Given the description of an element on the screen output the (x, y) to click on. 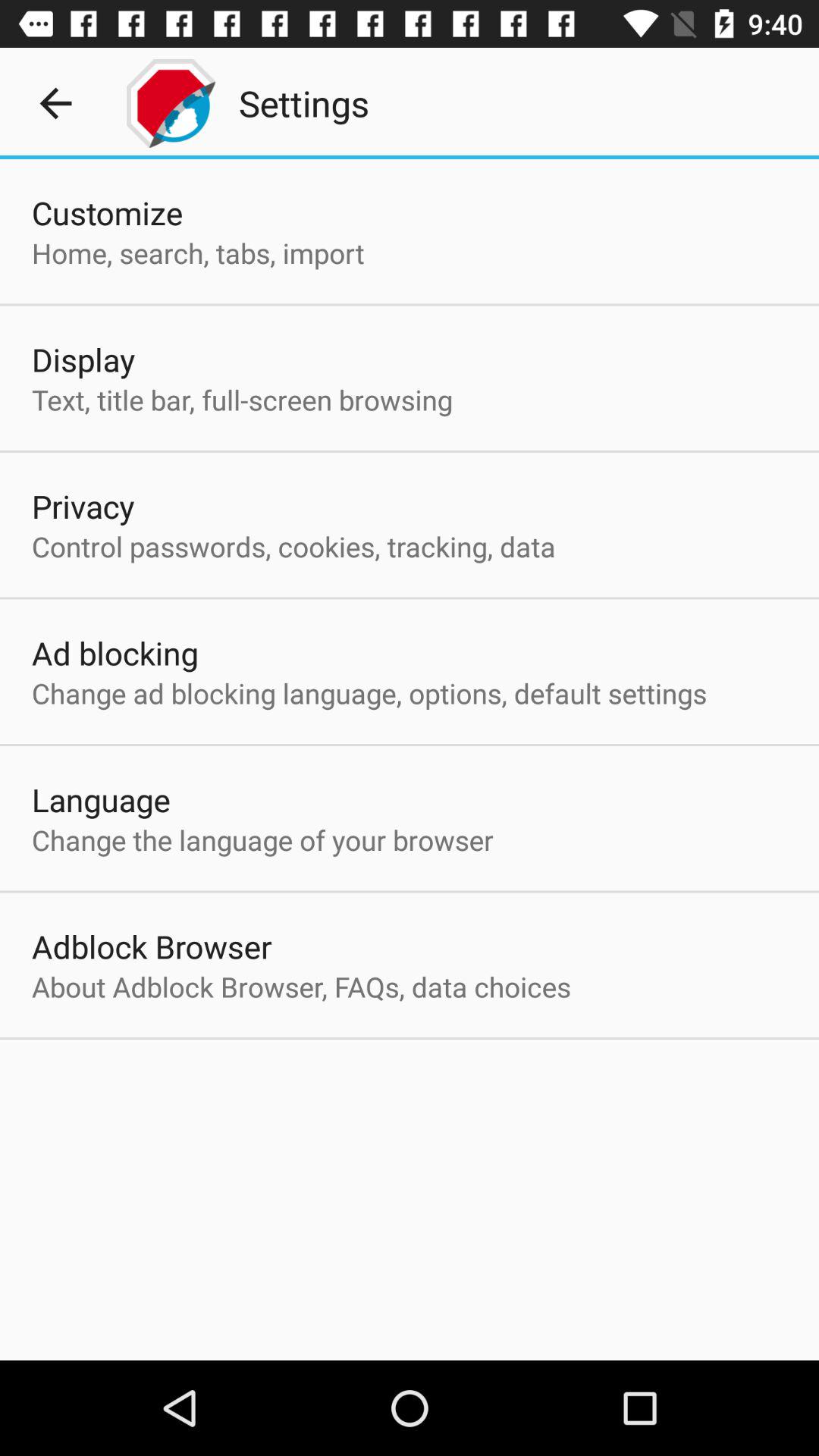
turn on privacy app (82, 505)
